Given the description of an element on the screen output the (x, y) to click on. 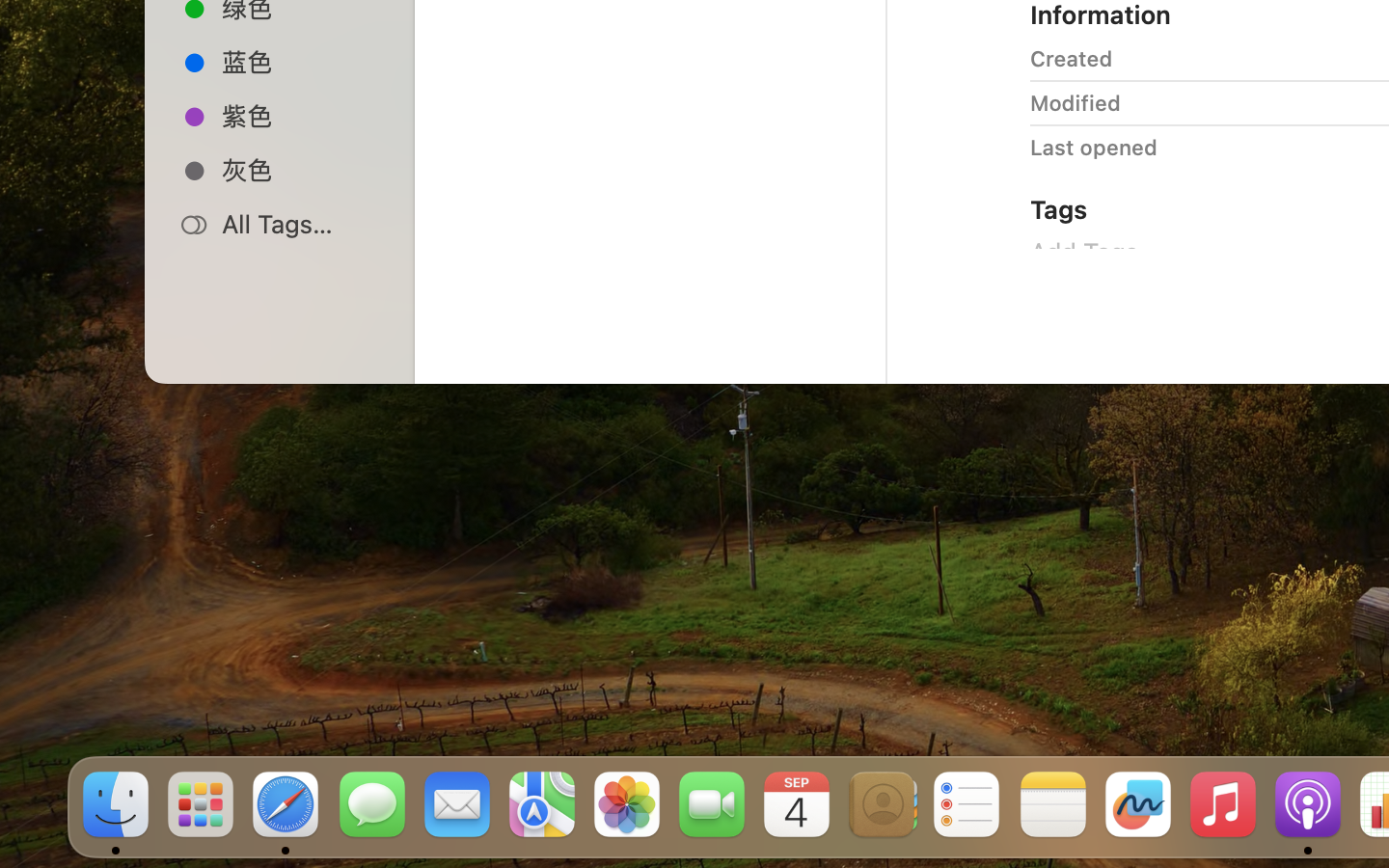
灰色 Element type: AXStaticText (299, 169)
Tags Element type: AXStaticText (1058, 207)
紫色 Element type: AXStaticText (299, 115)
蓝色 Element type: AXStaticText (299, 61)
Last opened Element type: AXStaticText (1093, 146)
